Given the description of an element on the screen output the (x, y) to click on. 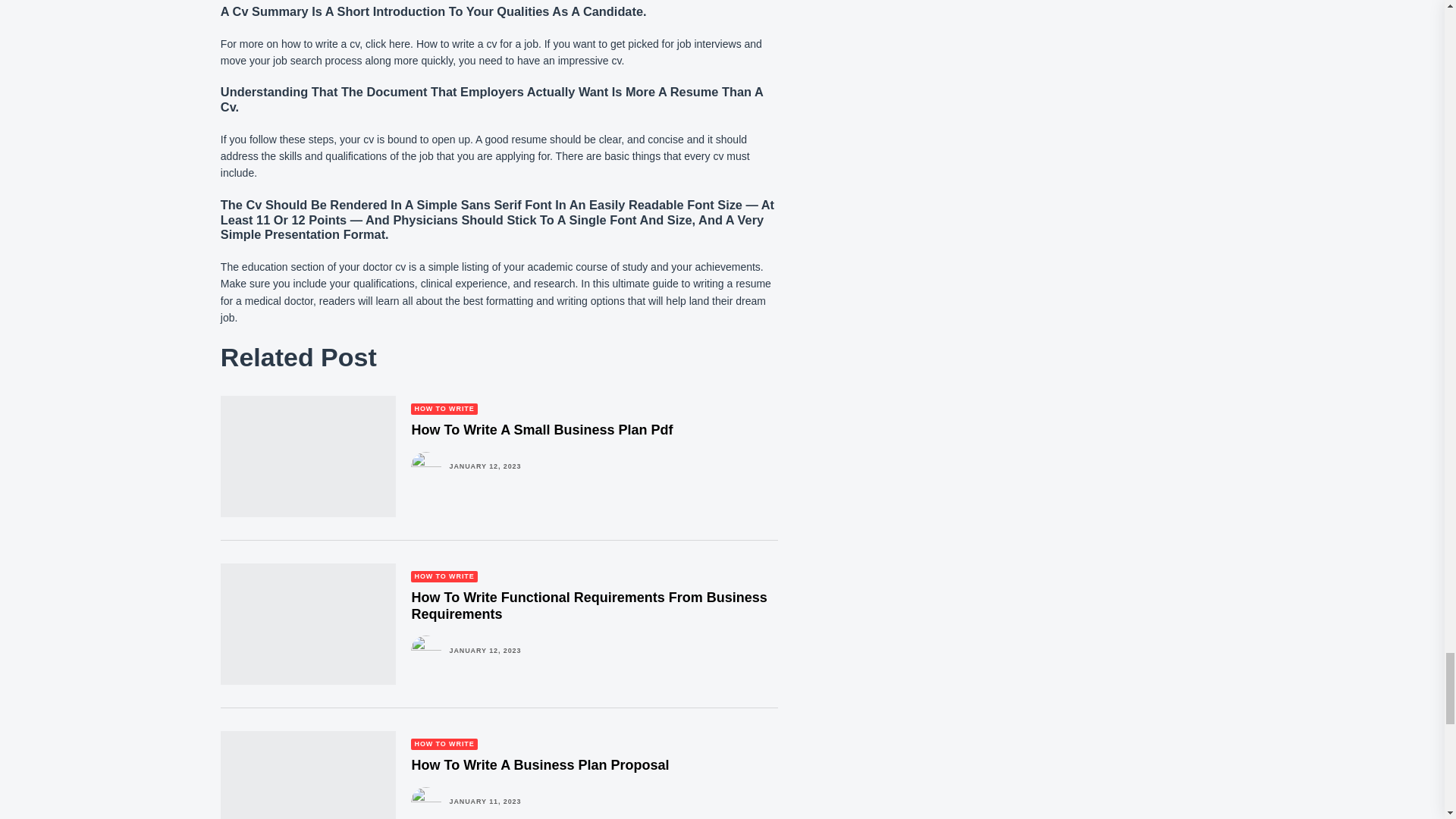
How To Write A Small Business Plan Pdf (541, 429)
JANUARY 11, 2023 (484, 801)
HOW TO WRITE (443, 744)
JANUARY 12, 2023 (484, 650)
JANUARY 12, 2023 (484, 466)
HOW TO WRITE (443, 408)
How To Write A Business Plan Proposal (539, 765)
HOW TO WRITE (443, 576)
